Given the description of an element on the screen output the (x, y) to click on. 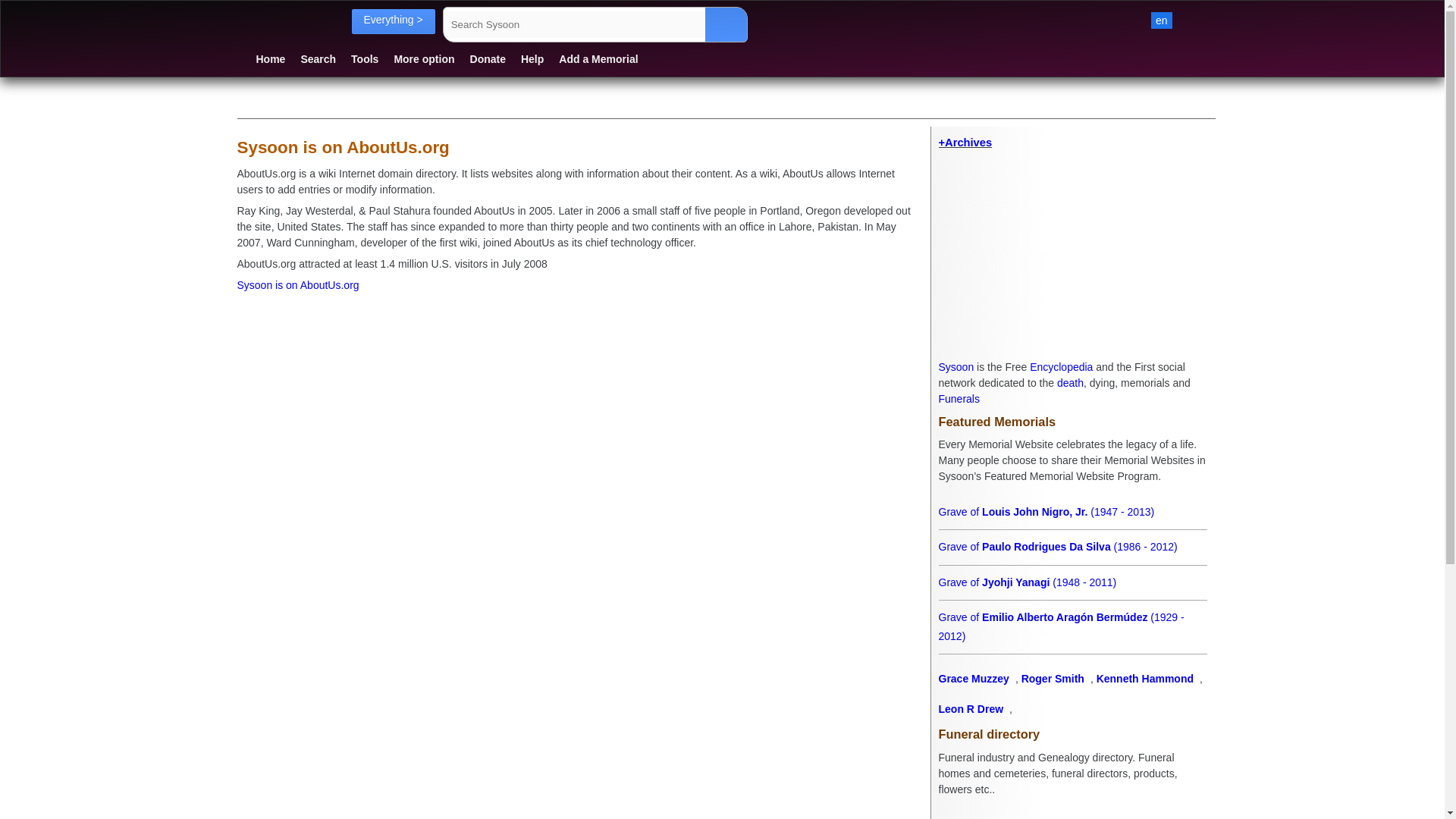
Help (532, 58)
Search (317, 58)
Featured Memorials (1073, 421)
Deangelo Parker 'Pgeezy' (1073, 617)
en (1161, 20)
Add a Memorial (598, 58)
 Michel Hrynchyshyn (1073, 546)
Tools (364, 58)
Inanda Baptist Church Cemetery (1073, 803)
Sysoon (956, 367)
